Given the description of an element on the screen output the (x, y) to click on. 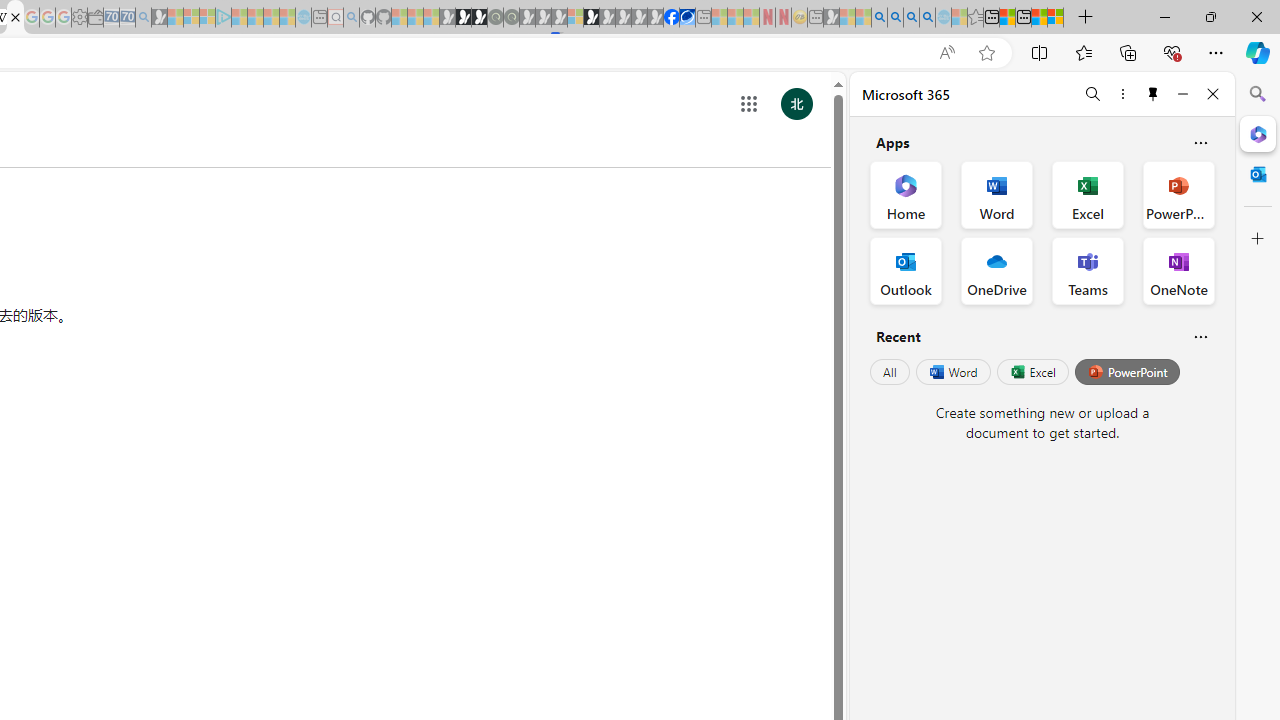
Settings - Sleeping (79, 17)
AirNow.gov (687, 17)
Outlook Office App (906, 270)
Close Microsoft 365 pane (1258, 133)
Word (952, 372)
PowerPoint (1127, 372)
Teams Office App (1087, 270)
